Given the description of an element on the screen output the (x, y) to click on. 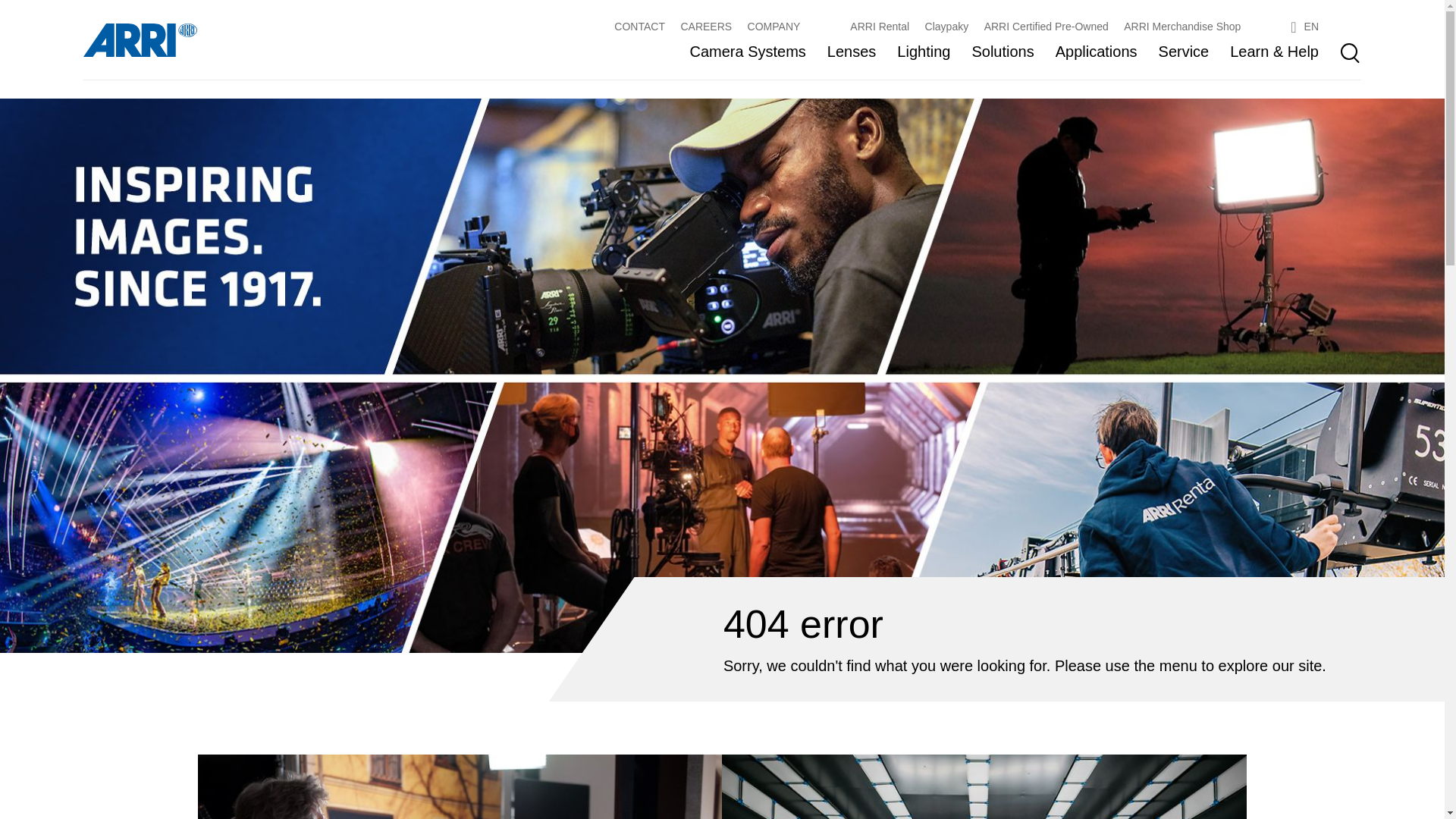
ARRI Certified Pre-Owned (1046, 26)
COMPANY (773, 26)
CONTACT (639, 26)
CAREERS (706, 26)
ARRI Merchandise Shop (1182, 26)
EN (1304, 26)
Return to the homepage (139, 39)
ARRI Rental (879, 26)
Camera Systems (746, 53)
Claypaky (946, 26)
